Given the description of an element on the screen output the (x, y) to click on. 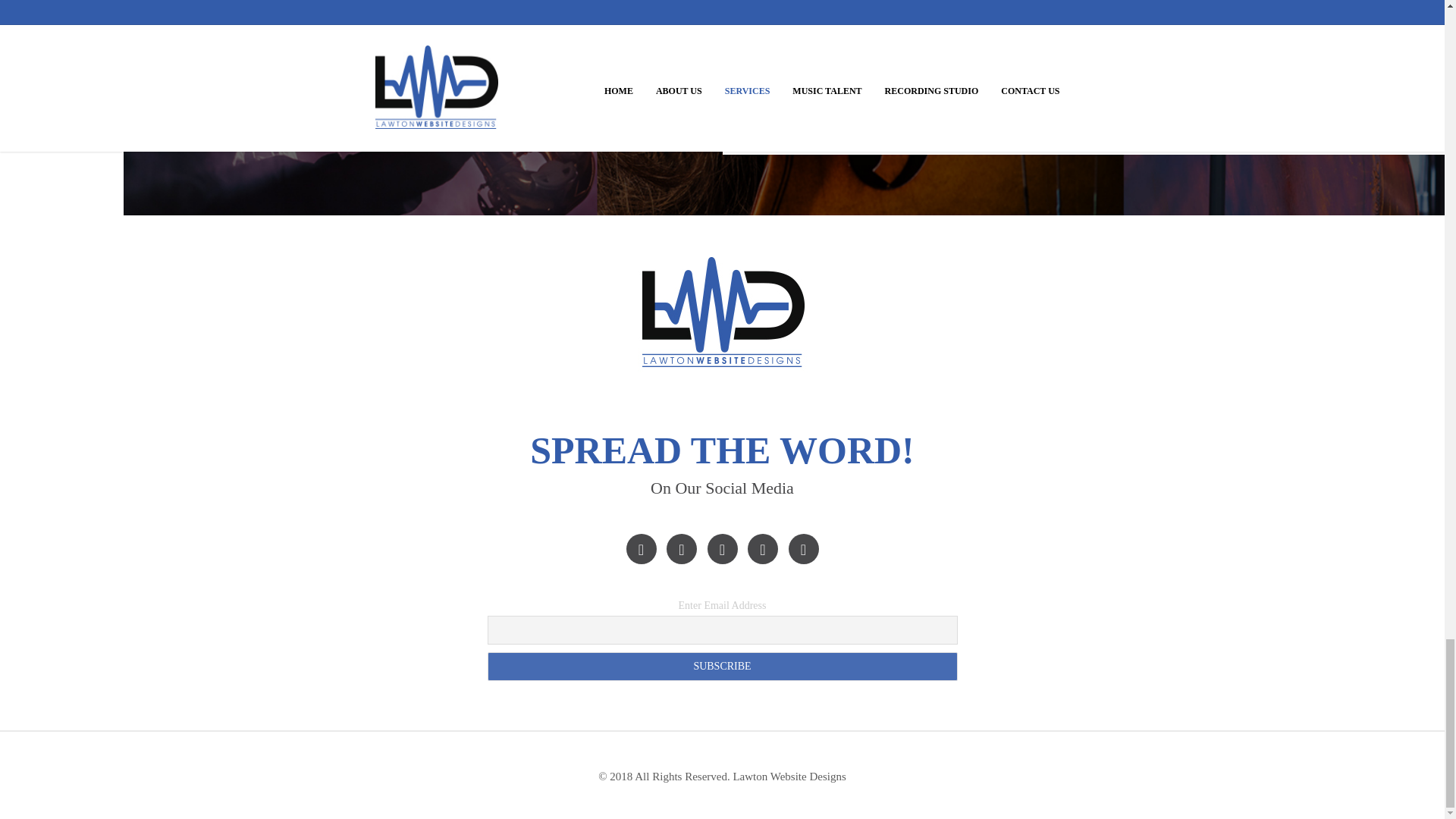
Subscribe (721, 665)
KNOW MORE (903, 56)
Subscribe (721, 665)
